Given the description of an element on the screen output the (x, y) to click on. 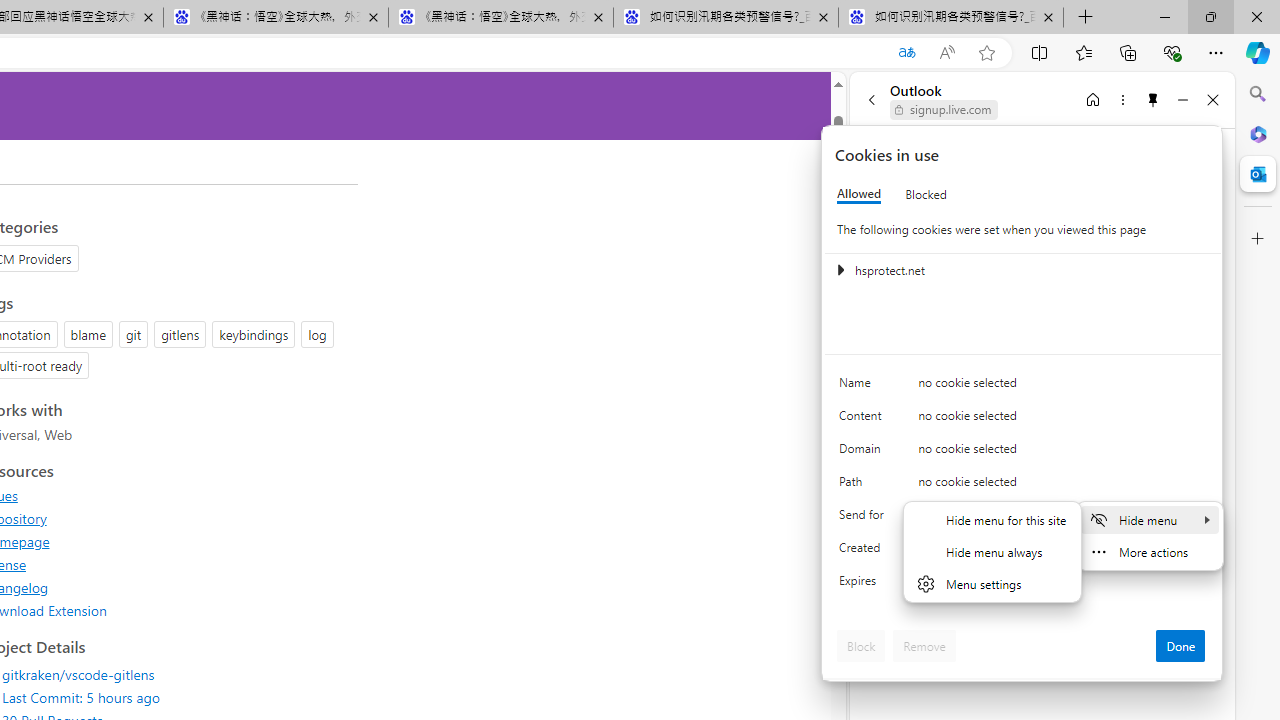
Remove (924, 645)
Path (864, 485)
Created (864, 552)
Hide menu always (992, 551)
Hide menu for this site (992, 519)
Mini menu on text selection (1149, 548)
More actions (1149, 551)
Done (1179, 645)
Name (864, 387)
